Given the description of an element on the screen output the (x, y) to click on. 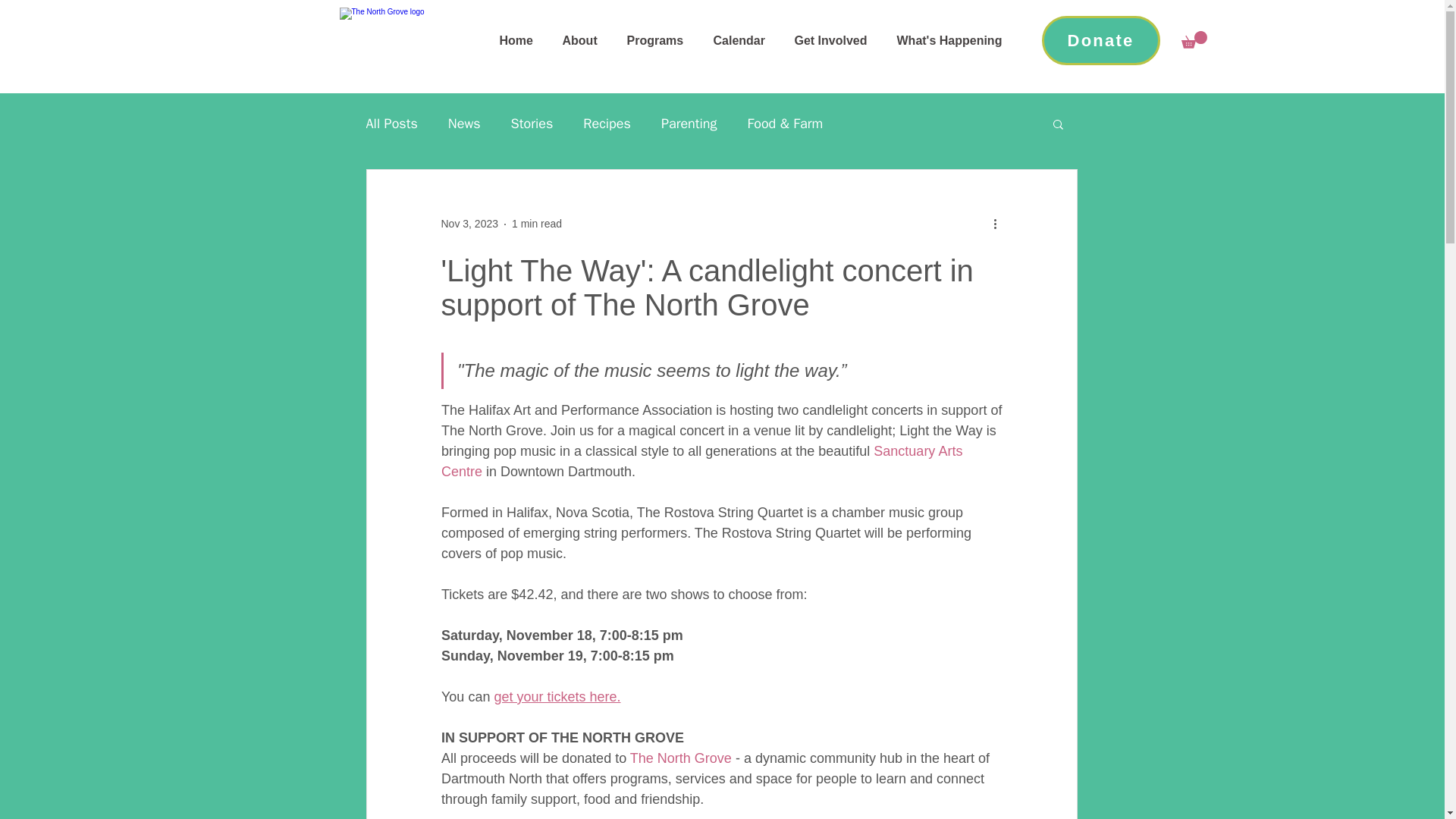
The North Grove (679, 758)
News (464, 123)
Parenting (689, 123)
Home (519, 40)
get your tickets here. (556, 696)
Stories (532, 123)
Nov 3, 2023 (470, 223)
Recipes (606, 123)
1 min read (537, 223)
Sanctuary Arts Centre (703, 461)
